Given the description of an element on the screen output the (x, y) to click on. 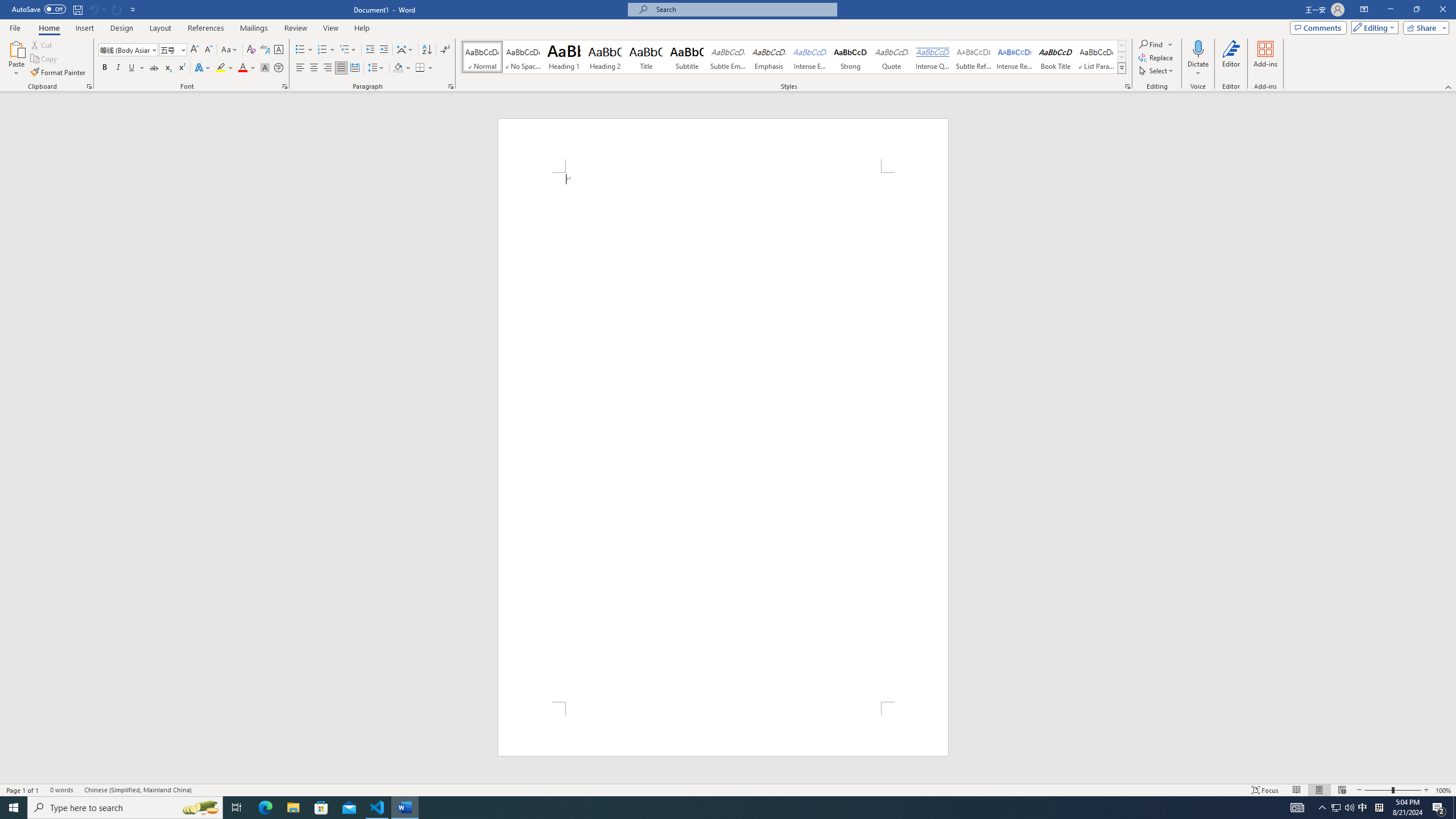
Can't Undo (92, 9)
